Given the description of an element on the screen output the (x, y) to click on. 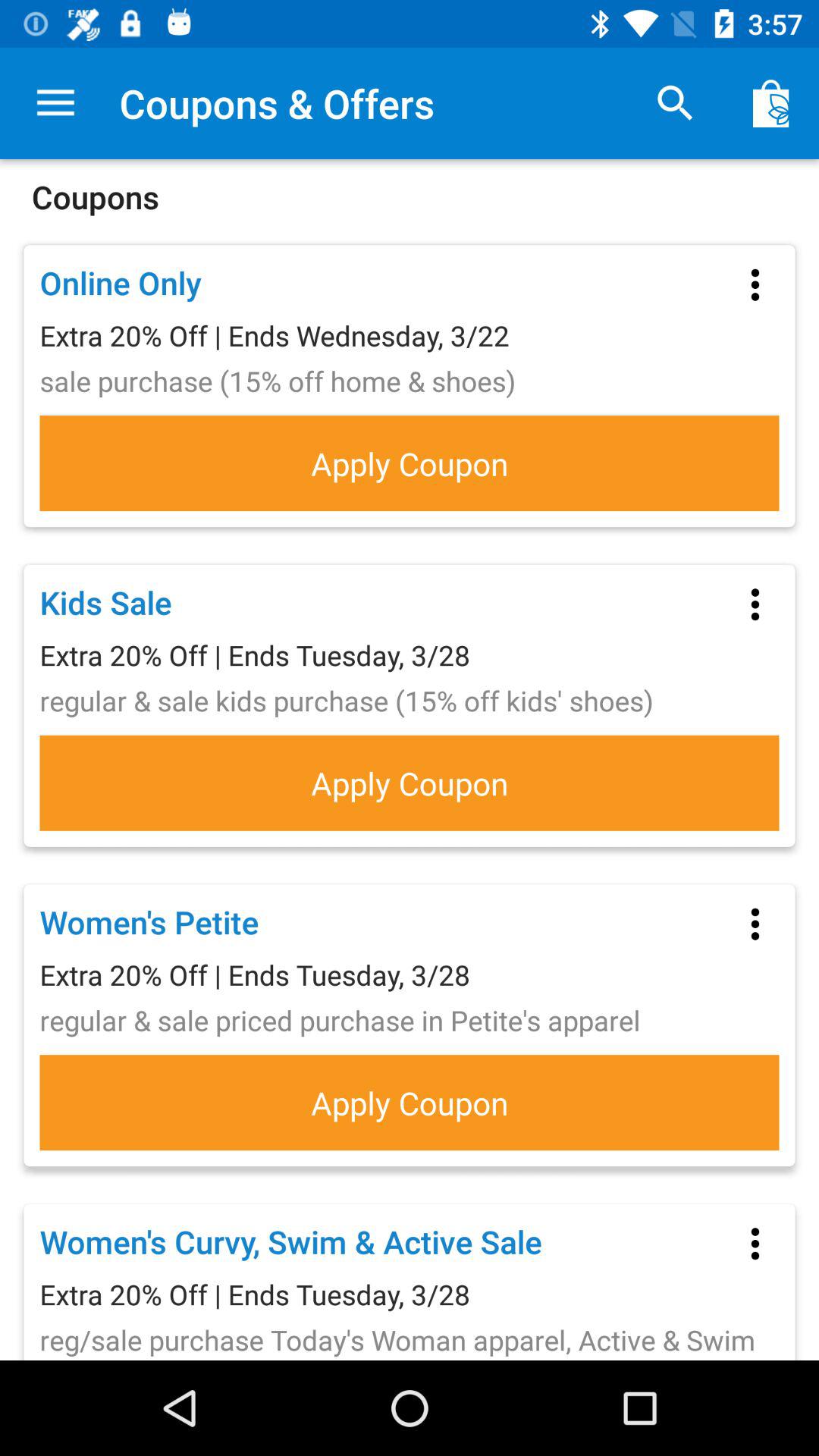
choose item above the coupons item (675, 103)
